Given the description of an element on the screen output the (x, y) to click on. 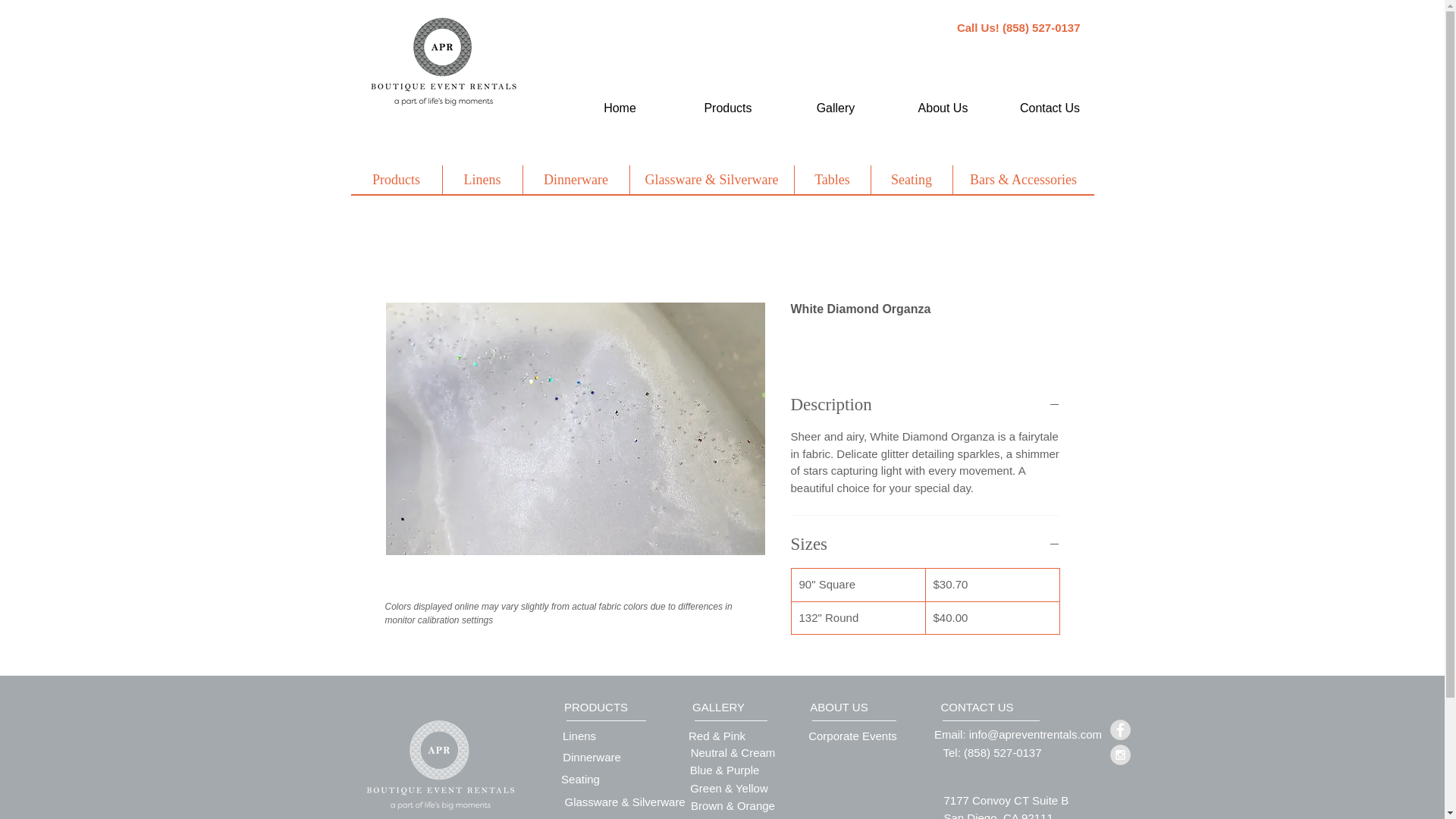
PRODUCTS (595, 706)
Products (395, 179)
Sizes (924, 544)
Description (924, 404)
Tables (831, 179)
Dinnerware (574, 179)
Contact Us (1048, 107)
Linens (579, 735)
Seating (580, 778)
Seating (911, 179)
